Given the description of an element on the screen output the (x, y) to click on. 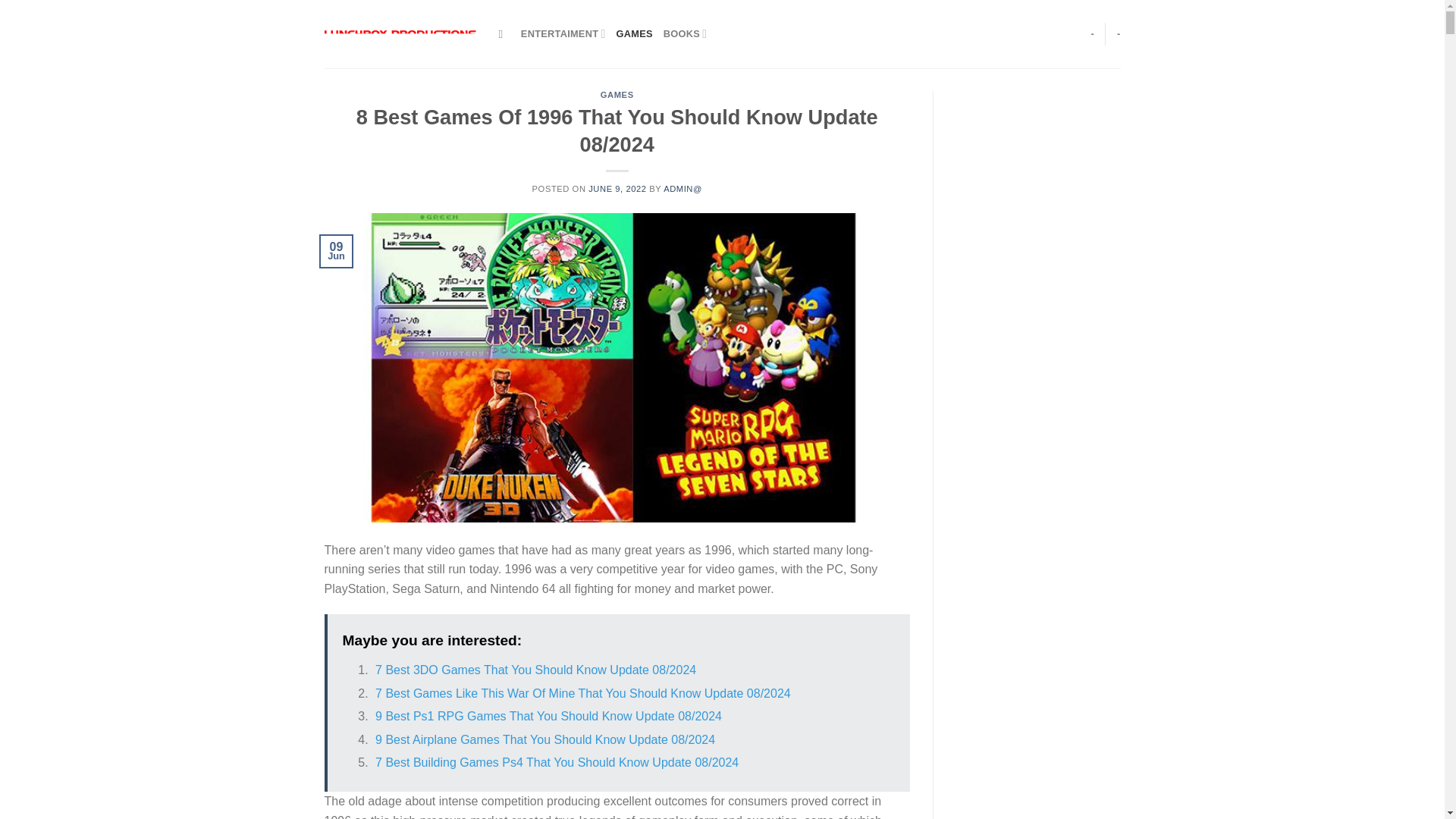
JUNE 9, 2022 (617, 188)
ENTERTAIMENT (563, 33)
GAMES (633, 33)
Lunchbox Theatrical Productions (400, 33)
BOOKS (685, 33)
GAMES (616, 94)
